Given the description of an element on the screen output the (x, y) to click on. 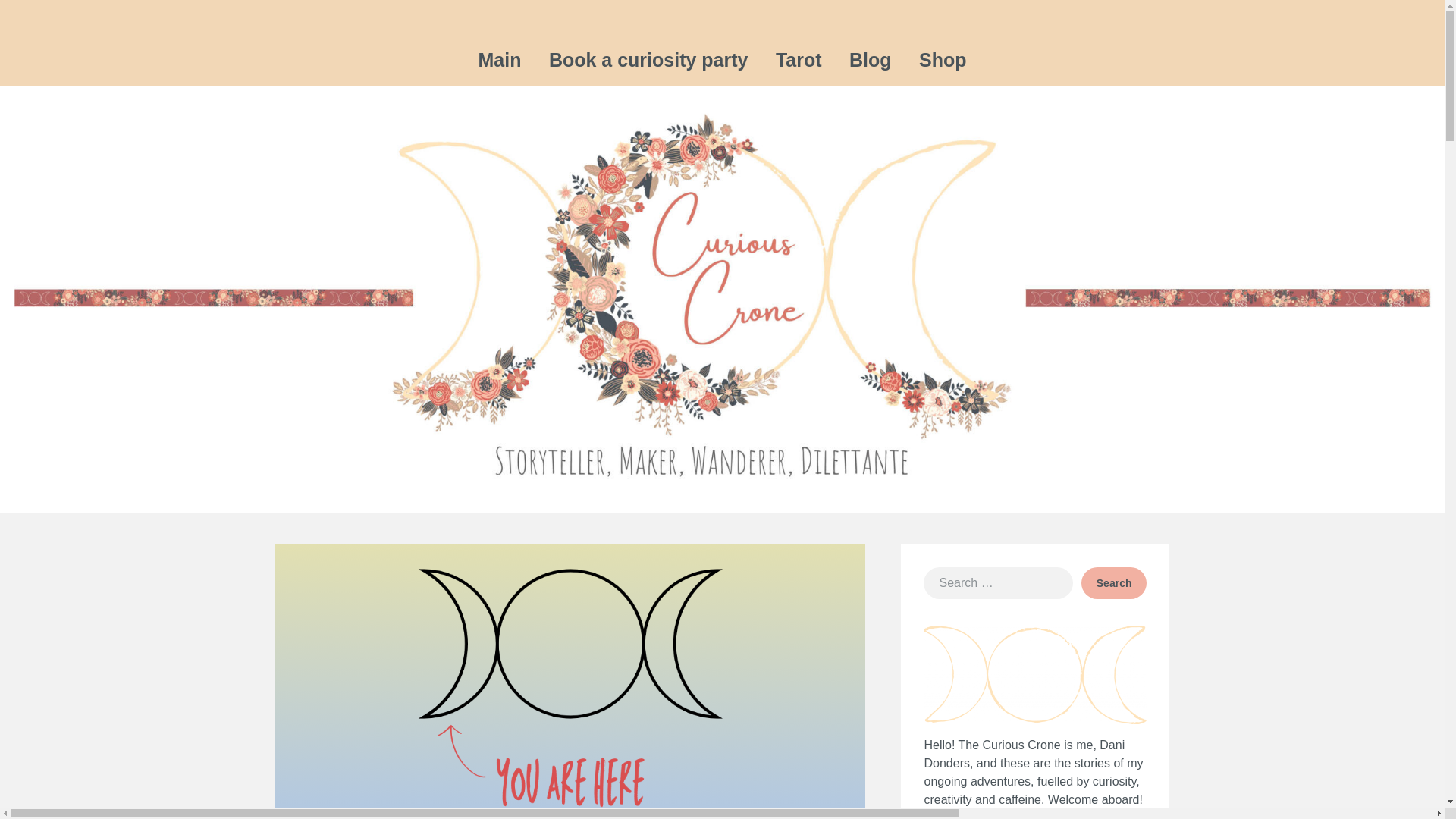
Search (1114, 582)
Book a curiosity party (648, 60)
Tarot (798, 60)
Blog (870, 60)
Shop (942, 60)
Curious Crone (1089, 38)
Search (1114, 582)
Search (1114, 582)
Main (498, 60)
